Given the description of an element on the screen output the (x, y) to click on. 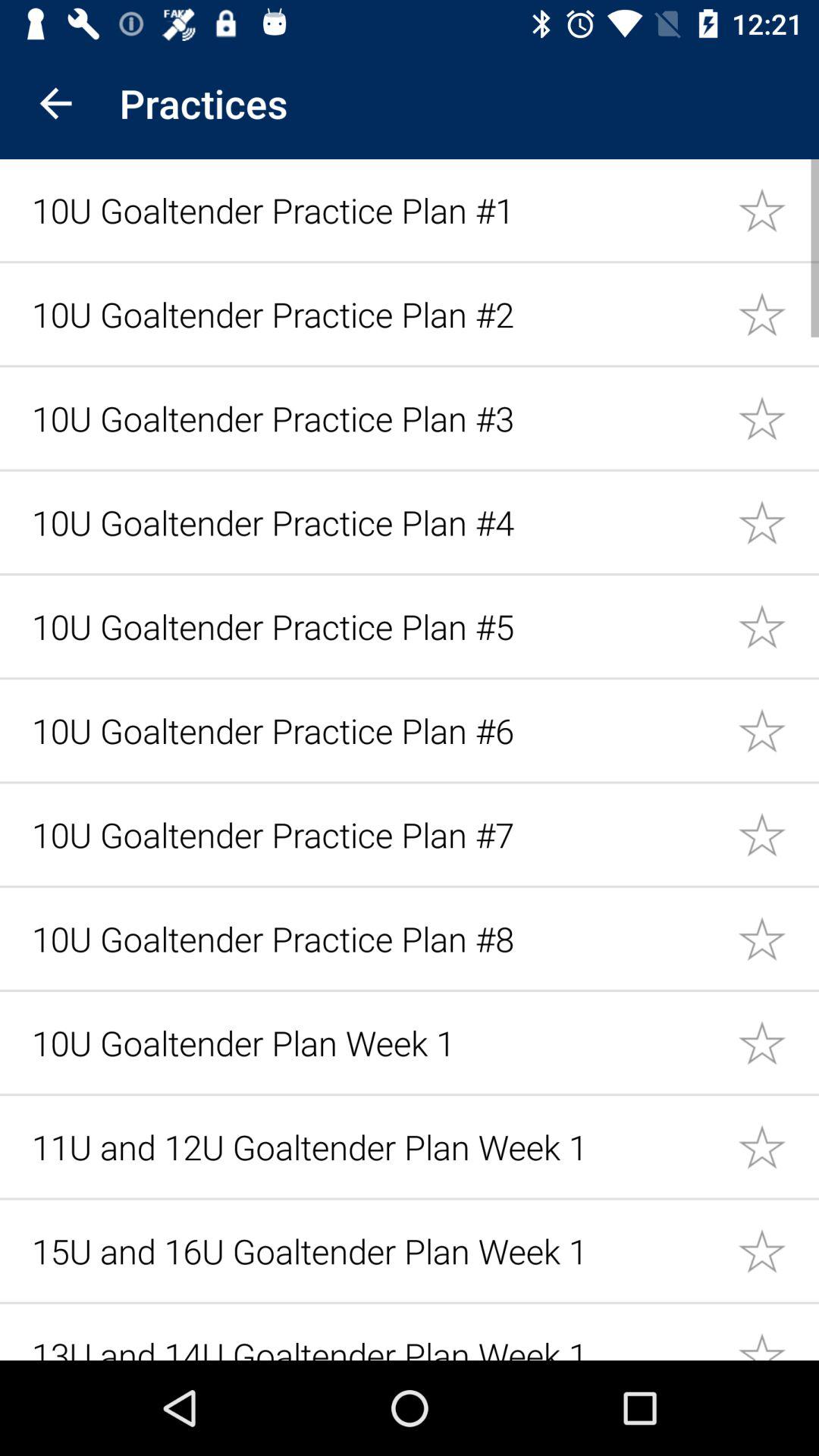
choose the item to the left of the practices item (55, 103)
